Given the description of an element on the screen output the (x, y) to click on. 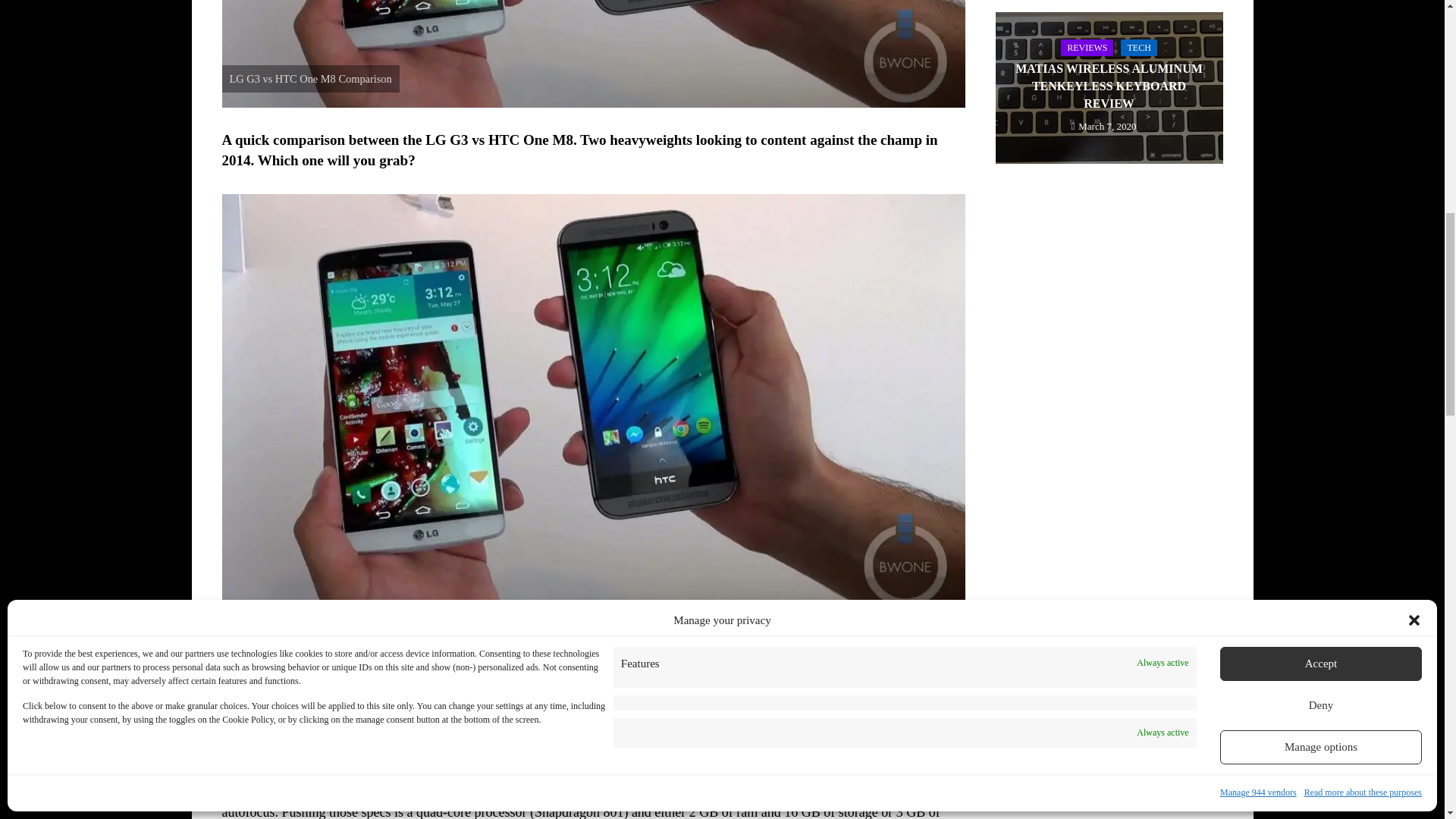
Matias Wireless Aluminum Tenkeyless Keyboard Review (1108, 86)
